Given the description of an element on the screen output the (x, y) to click on. 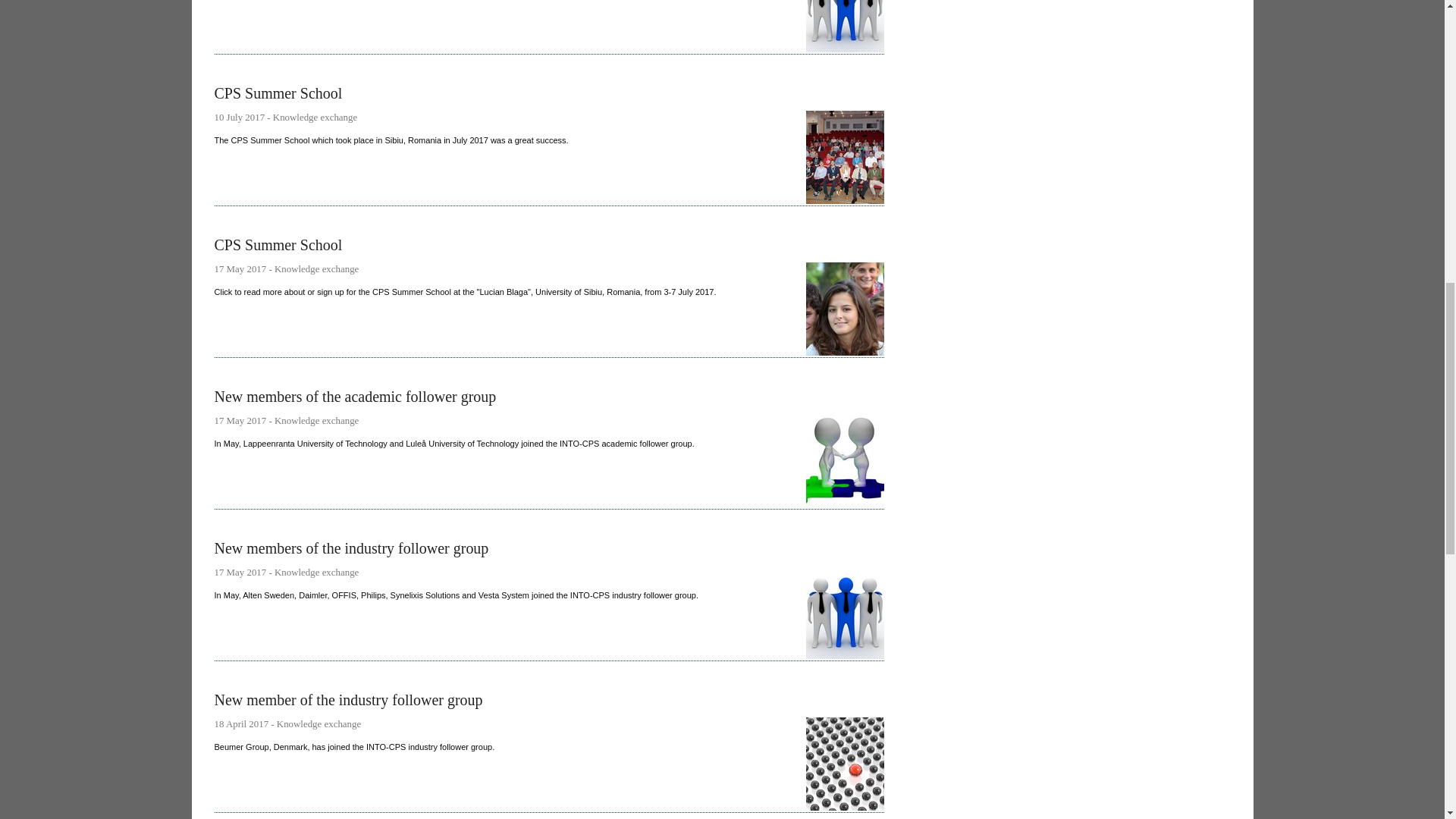
New member of the academic follower group (548, 27)
CPS Summer School (548, 145)
New members of the industry follower group (548, 599)
New member of the industry follower group (548, 752)
New members of the academic follower group (548, 448)
